Given the description of an element on the screen output the (x, y) to click on. 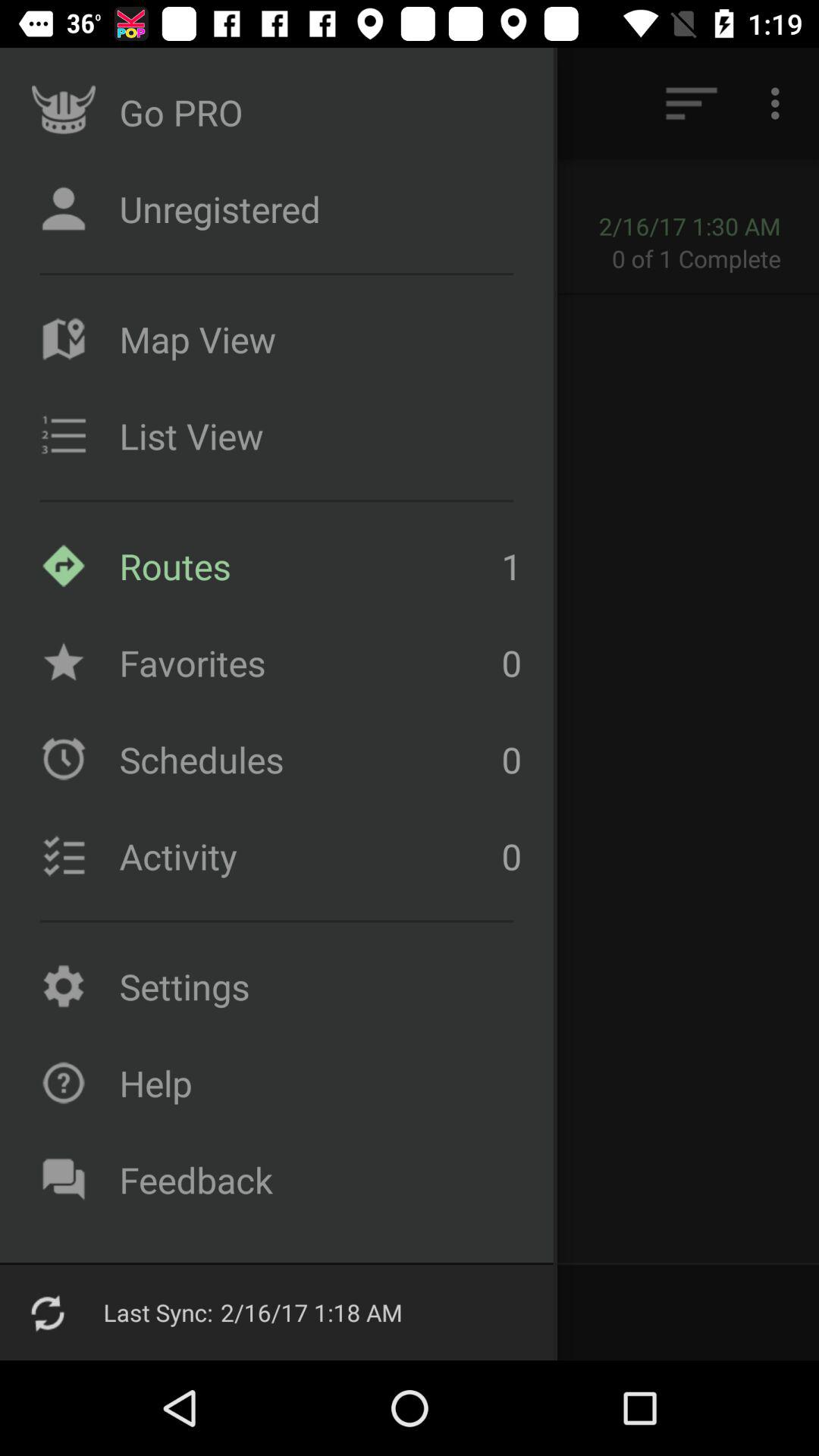
tap the icon next to 1 (306, 662)
